Given the description of an element on the screen output the (x, y) to click on. 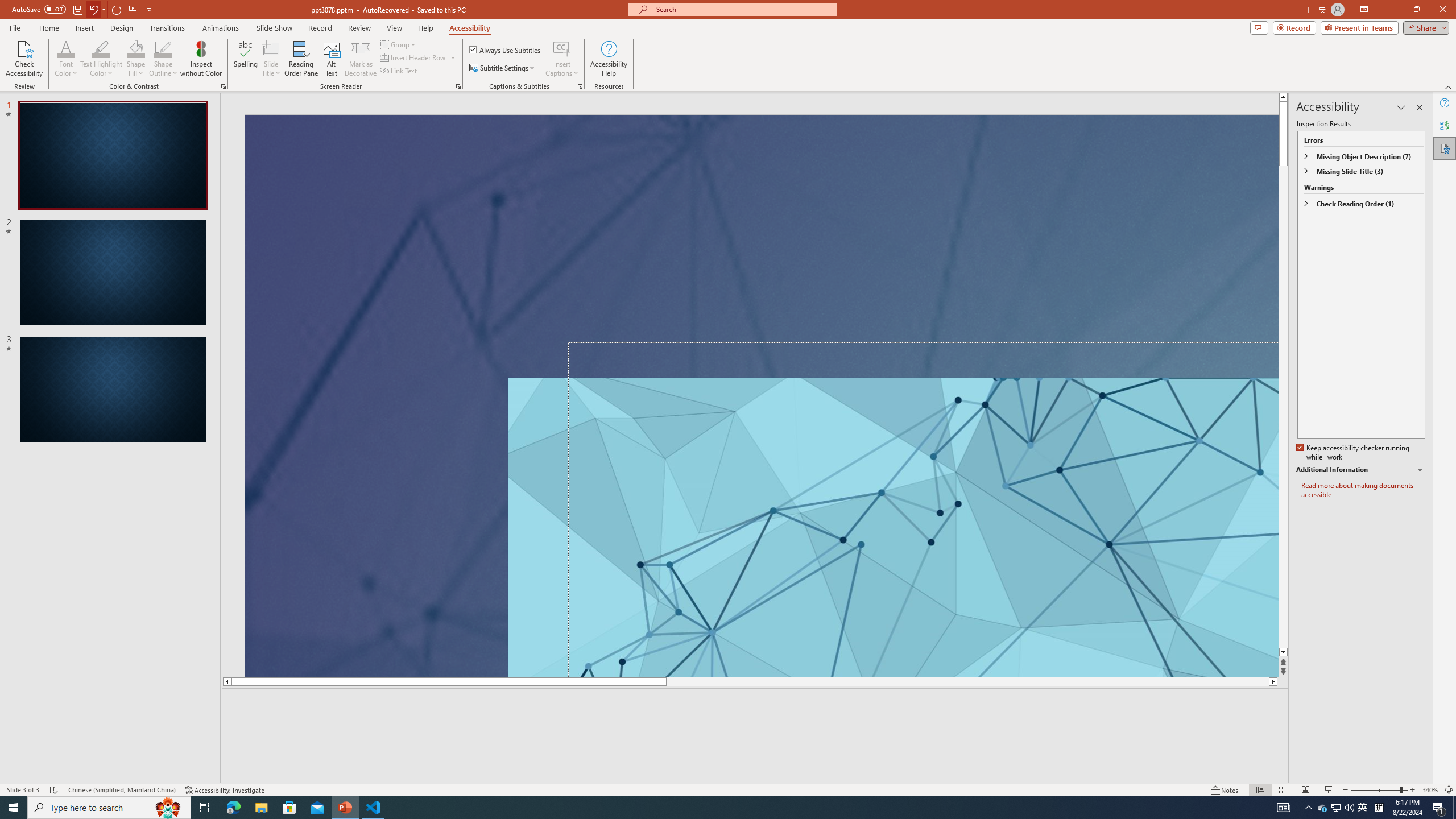
An abstract genetic concept (761, 395)
Mark as Decorative (360, 58)
Captions & Subtitles (580, 85)
Slide Notes (755, 705)
Link Text (399, 69)
Group (398, 44)
Read more about making documents accessible (1363, 489)
